Given the description of an element on the screen output the (x, y) to click on. 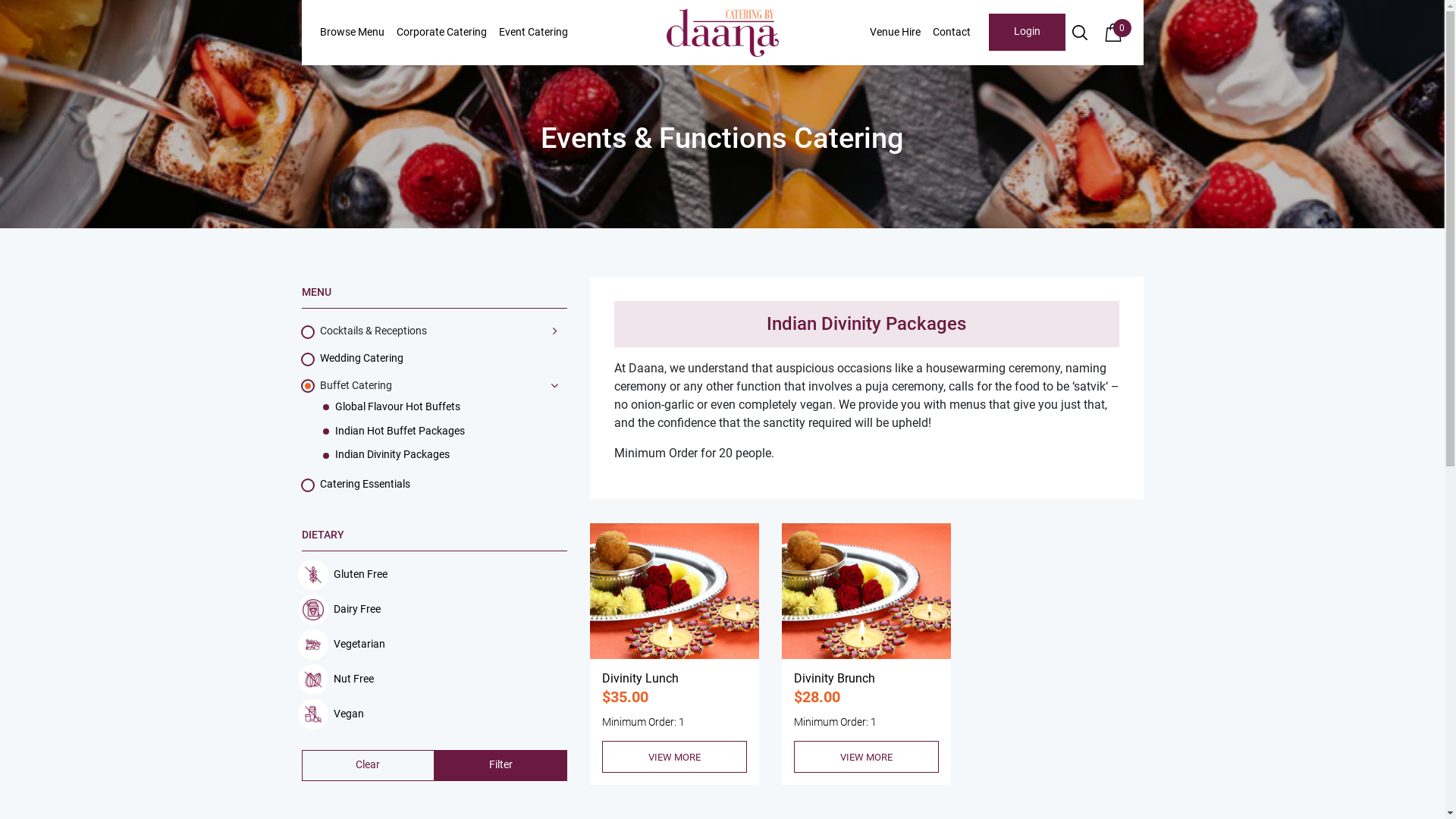
Clear Element type: text (367, 765)
Filter Element type: text (499, 765)
VIEW MORE Element type: text (674, 756)
Event Catering Element type: text (532, 32)
Login Element type: text (1026, 31)
Cart
0
Number of items in your cart: Element type: text (1113, 32)
Contact Element type: text (951, 32)
Half Day - Element type: text (865, 590)
VIEW MORE Element type: text (865, 756)
Venue Hire Element type: text (894, 32)
Global Flavour Hot Buffets Element type: text (397, 406)
Catering Essentials Element type: text (365, 484)
Half Day - Element type: text (674, 590)
Wedding Catering Element type: text (361, 358)
Corporate Catering Element type: text (440, 32)
Browse Menu Element type: text (352, 32)
Indian Divinity Packages Element type: text (392, 454)
Indian Hot Buffet Packages Element type: text (399, 431)
